Given the description of an element on the screen output the (x, y) to click on. 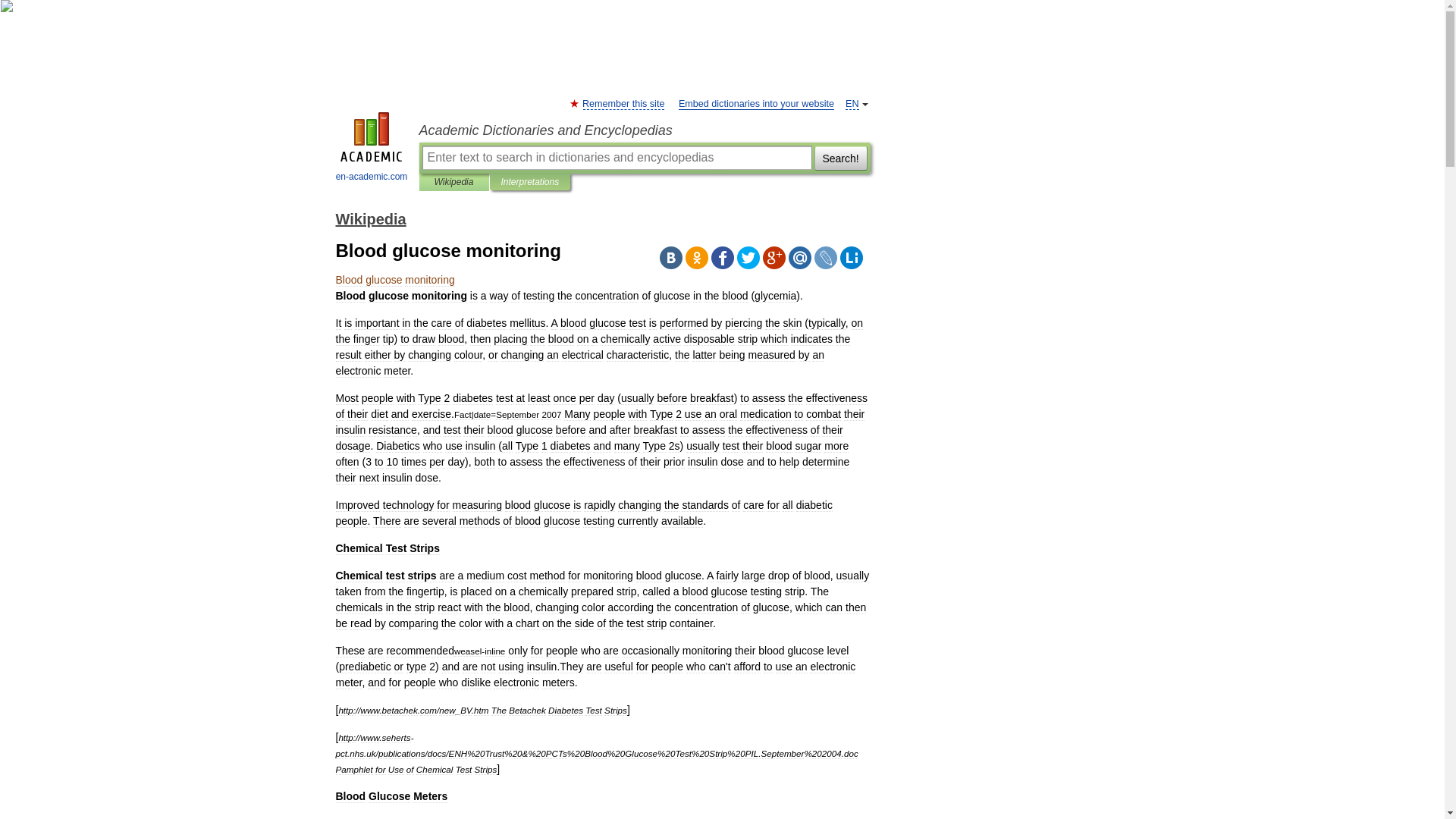
Academic Dictionaries and Encyclopedias (644, 130)
Interpretations (529, 181)
Enter text to search in dictionaries and encyclopedias (616, 157)
Search! (840, 157)
Wikipedia (453, 181)
en-academic.com (371, 148)
Remember this site (623, 103)
Embed dictionaries into your website (756, 103)
Wikipedia (370, 218)
EN (852, 103)
